Given the description of an element on the screen output the (x, y) to click on. 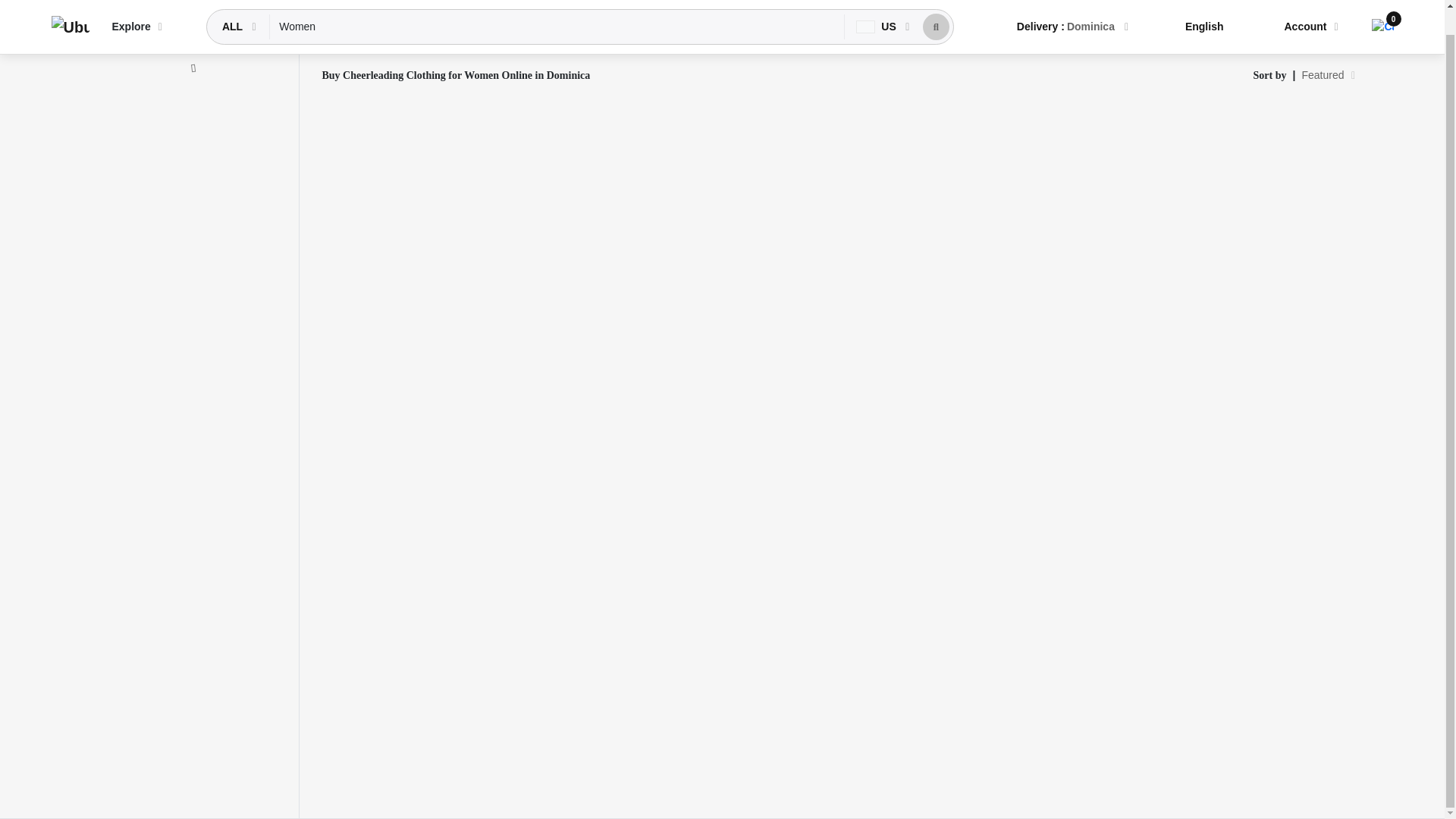
Ubuy (69, 9)
US (877, 7)
ALL (234, 7)
0 (1382, 5)
Women (556, 7)
